Given the description of an element on the screen output the (x, y) to click on. 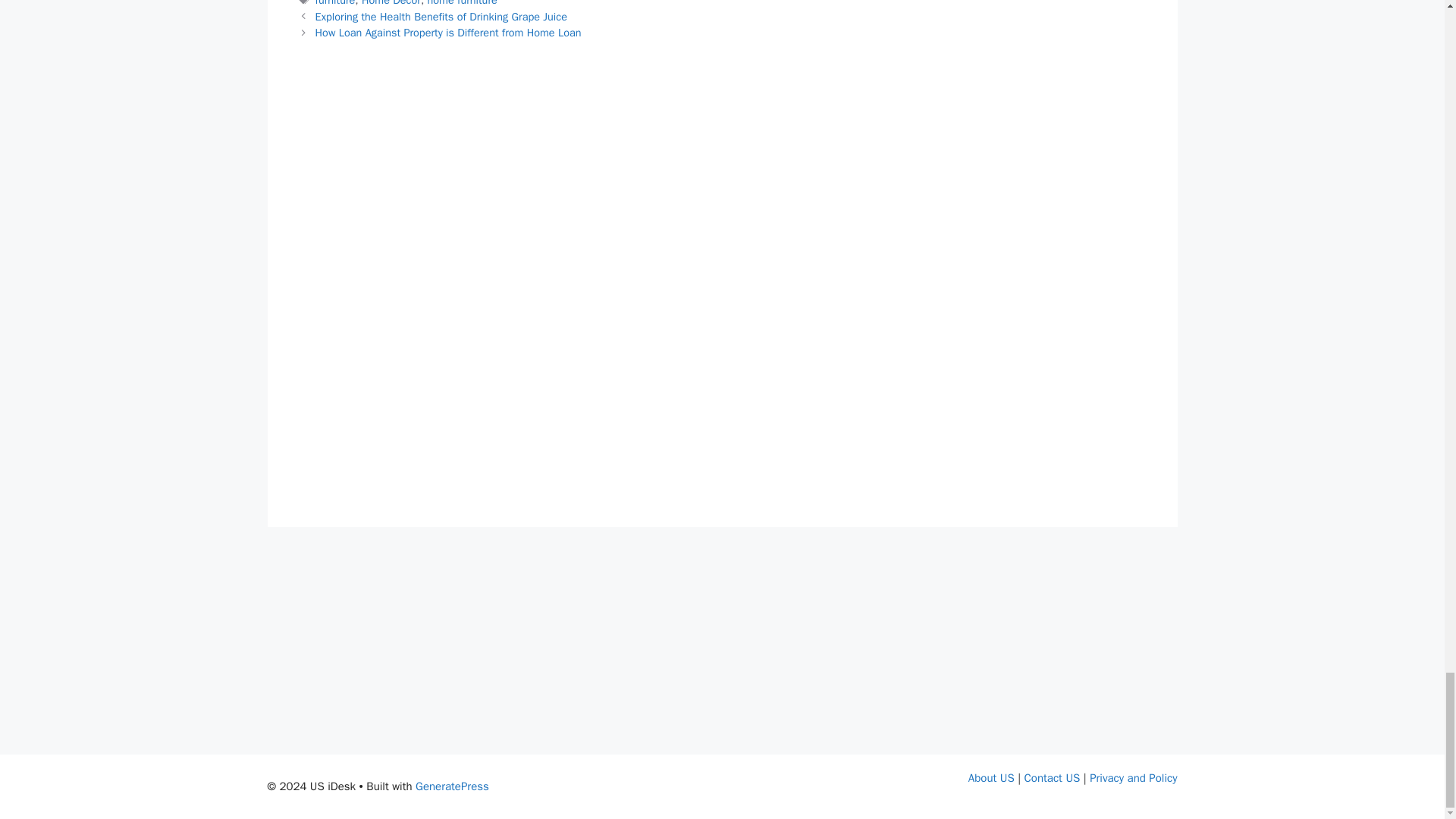
GeneratePress (451, 786)
furniture (335, 3)
About US (991, 777)
home furniture (462, 3)
How Loan Against Property is Different from Home Loan  (450, 32)
Home Decor (390, 3)
Contact US (1052, 777)
Privacy and Policy (1132, 777)
Exploring the Health Benefits of Drinking Grape Juice (441, 16)
